Given the description of an element on the screen output the (x, y) to click on. 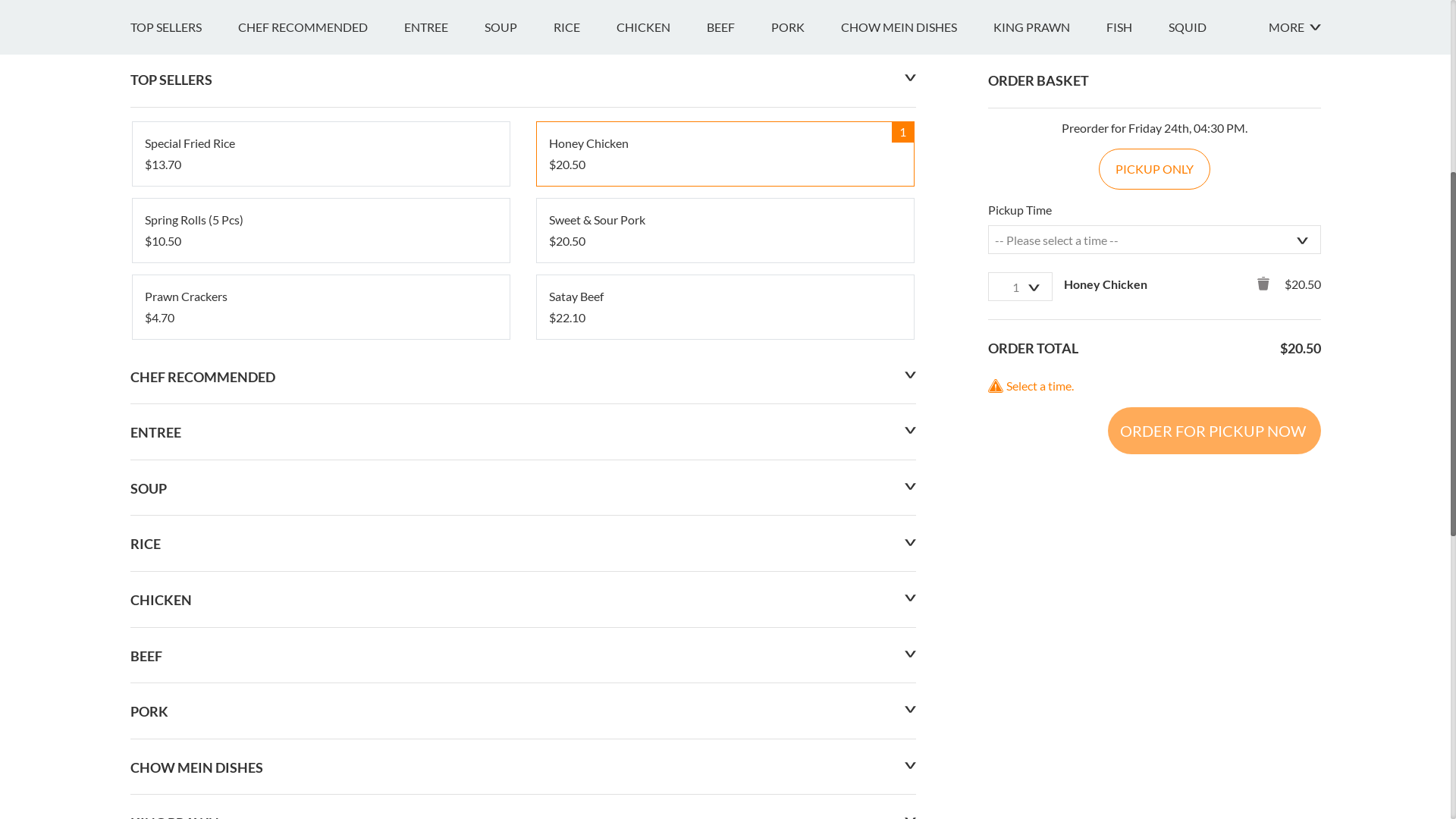
Satay Beef
$22.10 Element type: text (725, 694)
RICE Element type: text (584, 414)
PORK Element type: text (805, 414)
SOUP Element type: text (517, 414)
EN Element type: text (138, 16)
FISH Element type: text (1136, 414)
CHICKEN Element type: text (660, 414)
Special Fried Rice
$13.70 Element type: text (320, 541)
Spring Rolls (5 Pcs)
$10.50 Element type: text (320, 617)
Prawn Crackers
$4.70 Element type: text (320, 694)
Sweet & Sour Pork
$20.50 Element type: text (725, 617)
Special Fried Rice
$13.70 Element type: text (320, 541)
Honey Chicken
$20.50 Element type: text (725, 541)
BEEF Element type: text (738, 414)
PICKUP ONLY Element type: text (1154, 556)
MORE Element type: text (1293, 414)
KING PRAWN Element type: text (1049, 414)
Prawn Crackers
$4.70 Element type: text (320, 694)
TOP SELLERS Element type: text (184, 414)
Honey Chicken
$20.50
1 Element type: text (725, 541)
Satay Beef
$22.10 Element type: text (725, 694)
SQUID Element type: text (1204, 414)
Sweet & Sour Pork
$20.50 Element type: text (725, 617)
ENTREE Element type: text (443, 414)
CHEF RECOMMENDED Element type: text (321, 414)
Golden Dragon Chinese Rest Element type: text (301, 223)
Spring Rolls (5 Pcs)
$10.50 Element type: text (320, 617)
CHOW MEIN DISHES Element type: text (916, 414)
